Given the description of an element on the screen output the (x, y) to click on. 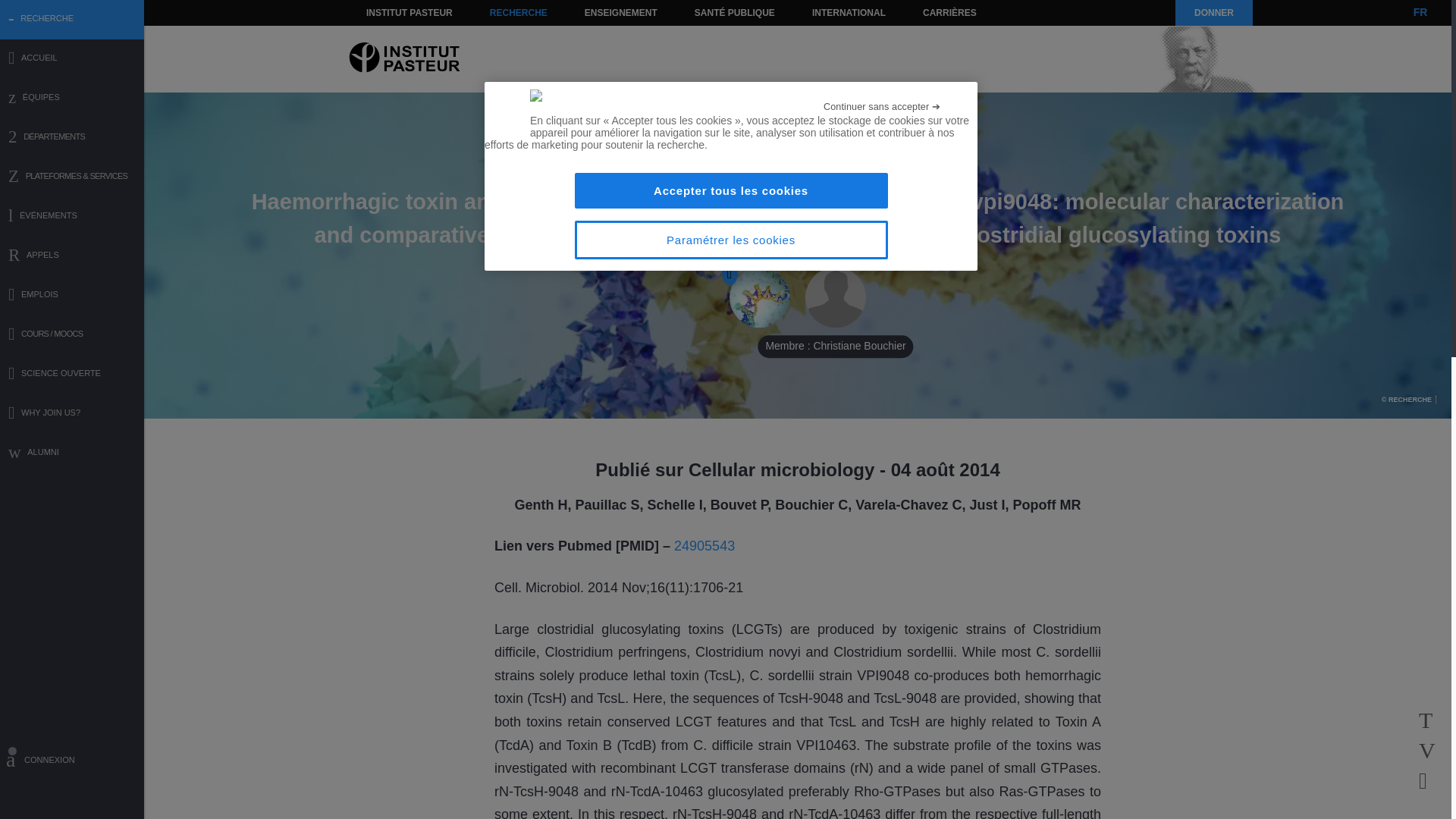
ACCUEIL (72, 59)
FR (1419, 11)
RECHERCHE (518, 12)
APPELS (72, 256)
ALUMNI (72, 454)
ENSEIGNEMENT (620, 12)
Membre : Christiane Bouchier (835, 297)
WHY JOIN US? (72, 413)
INSTITUT PASTEUR (409, 12)
24905543 (704, 545)
